Given the description of an element on the screen output the (x, y) to click on. 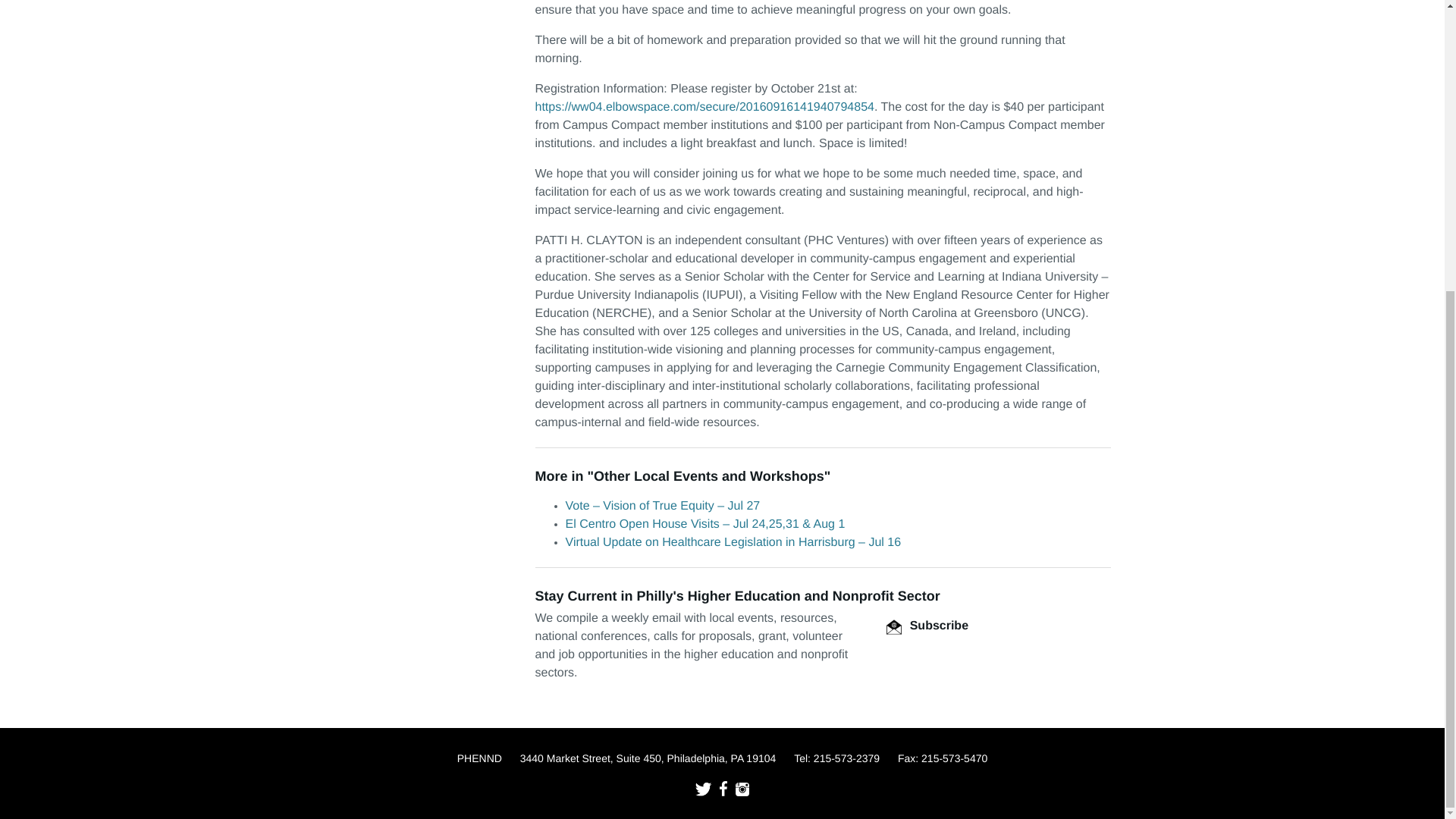
Subscribe (927, 625)
Other Local Events and Workshops (709, 476)
